Given the description of an element on the screen output the (x, y) to click on. 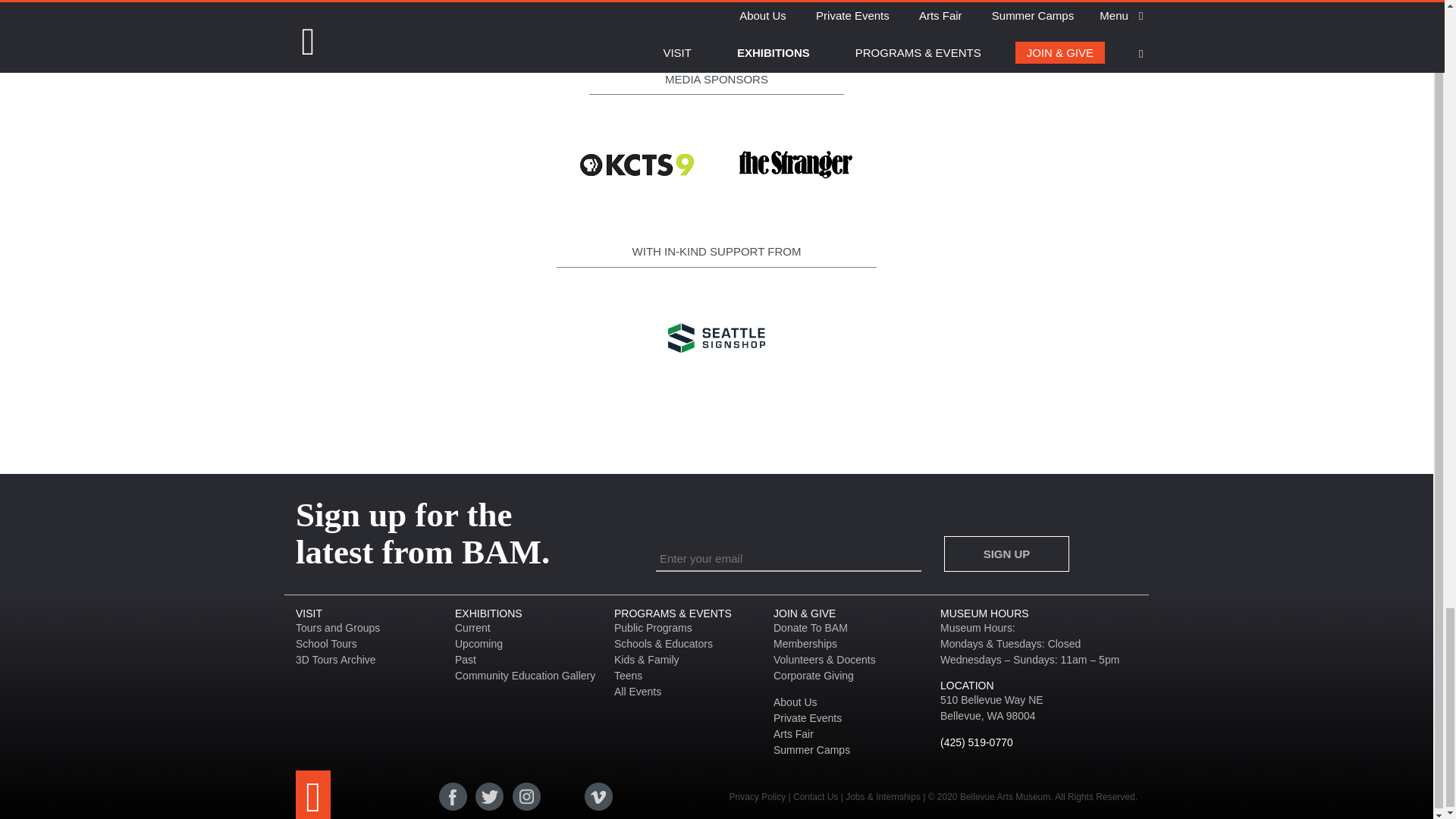
Sign up (1005, 553)
